Given the description of an element on the screen output the (x, y) to click on. 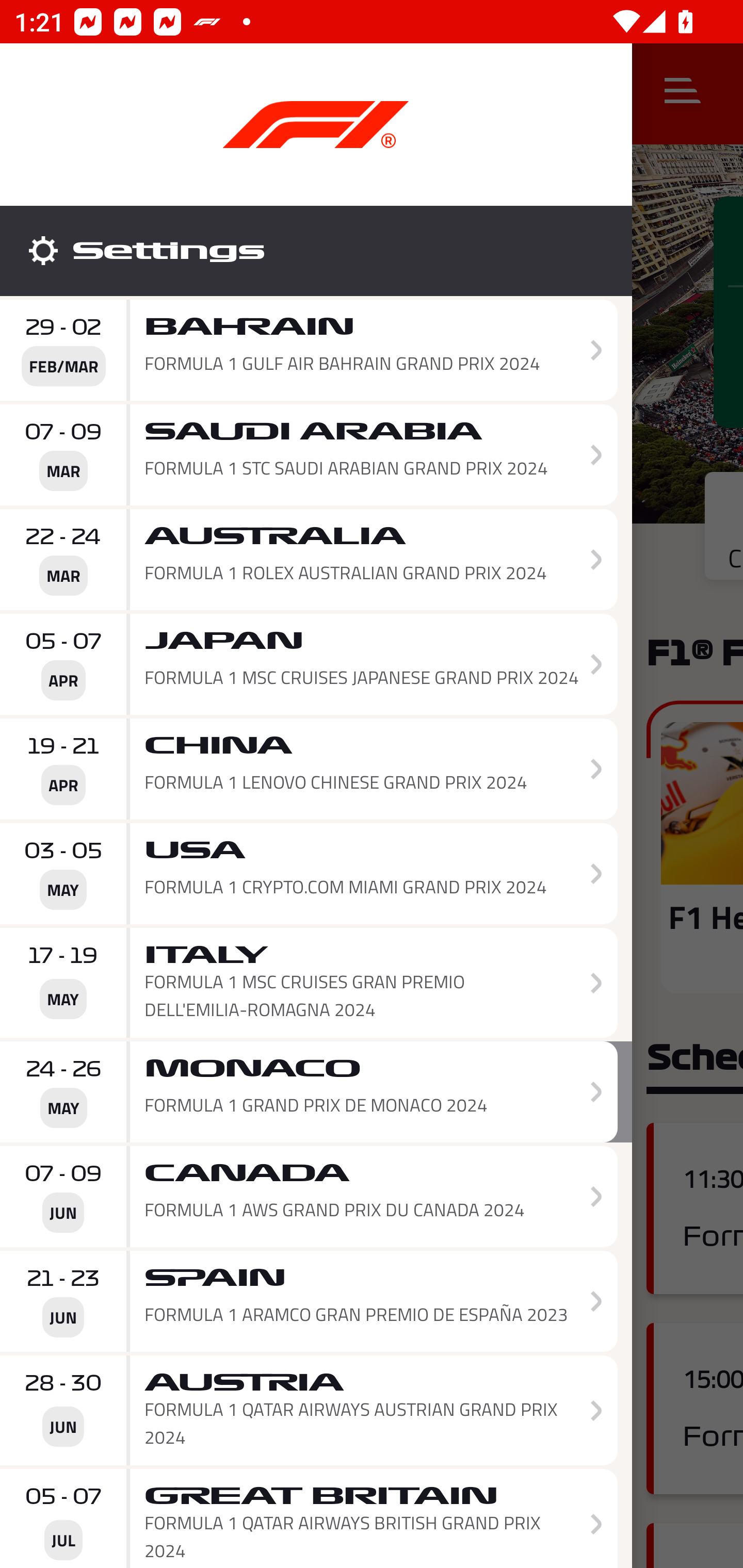
Settings (316, 250)
